Given the description of an element on the screen output the (x, y) to click on. 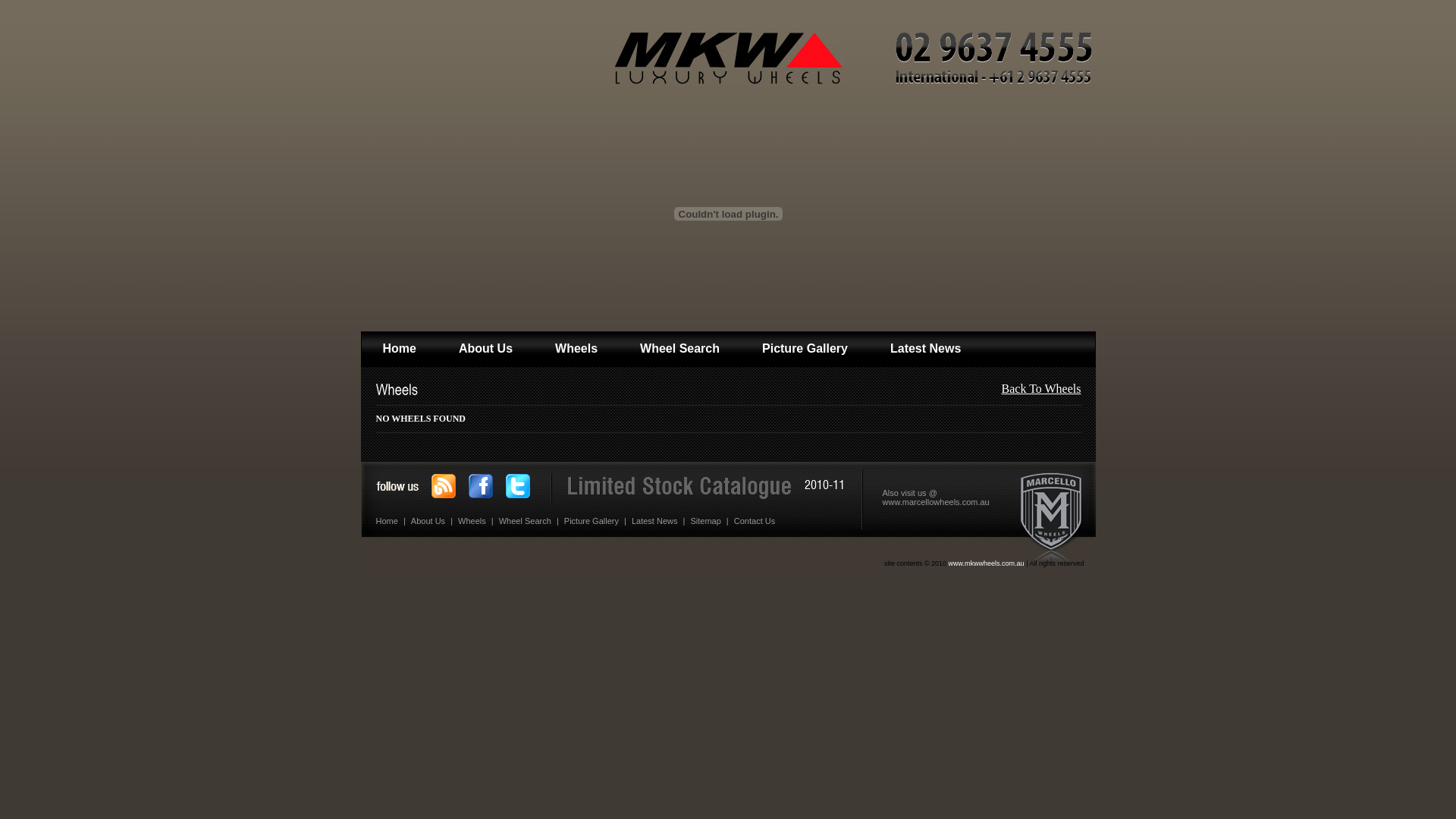
Sitemap Element type: text (705, 520)
About Us Element type: text (427, 520)
Wheel Search Element type: text (679, 348)
Latest News Element type: text (925, 348)
Contact Us Element type: text (754, 520)
www.mkwwheels.com.au Element type: text (986, 563)
Wheels Element type: text (575, 348)
Home Element type: text (388, 520)
Latest News Element type: text (654, 520)
Picture Gallery Element type: text (804, 348)
About Us Element type: text (485, 348)
Picture Gallery Element type: text (591, 520)
www.marcellowheels.com.au Element type: text (935, 501)
Contact Us Element type: text (416, 382)
Home Element type: text (398, 348)
Wheel Search Element type: text (524, 520)
Wheels Element type: text (472, 520)
Back To Wheels Element type: text (1041, 388)
